Given the description of an element on the screen output the (x, y) to click on. 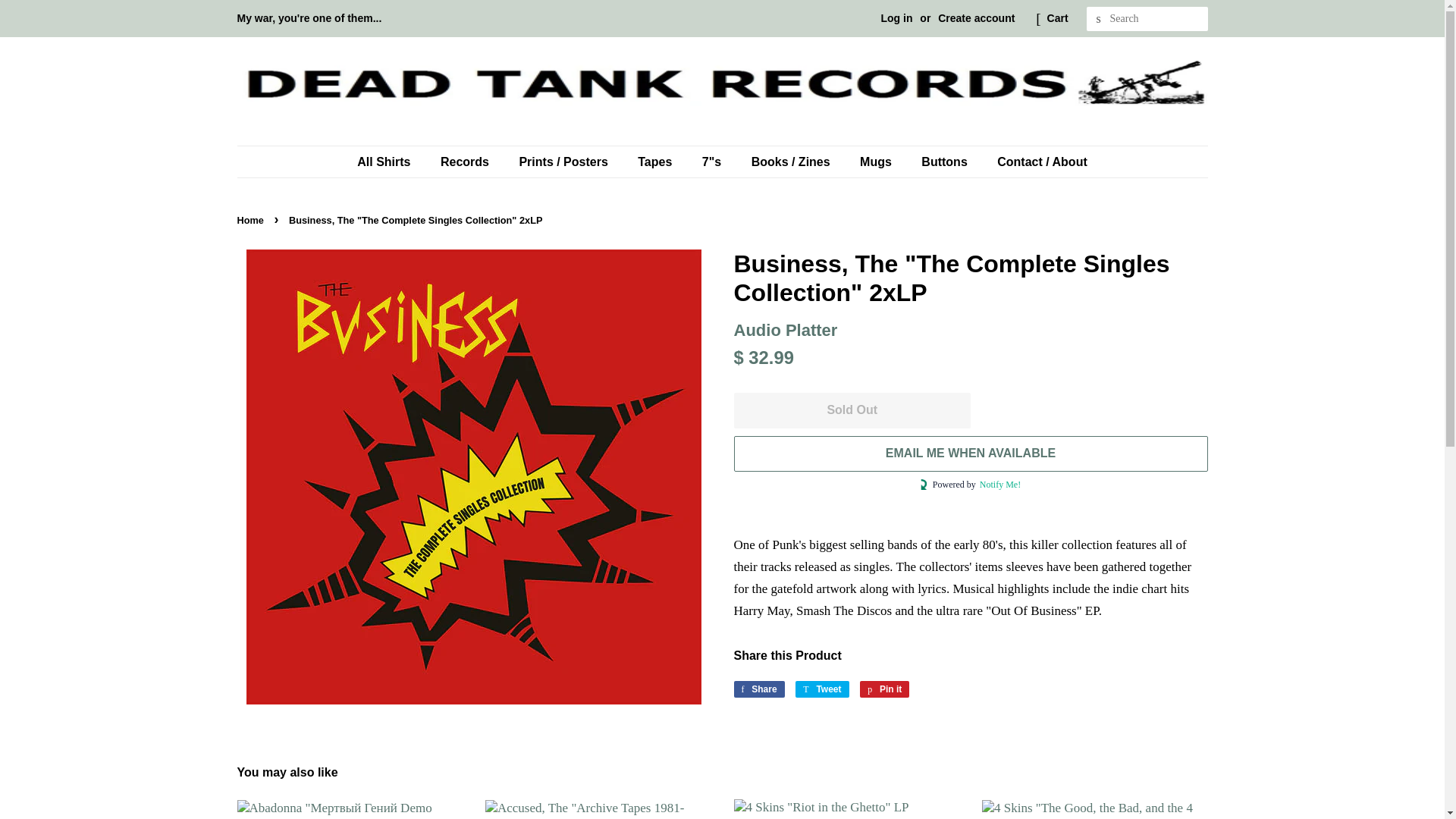
7"s (713, 161)
Sold Out (852, 410)
Tapes (656, 161)
Records (466, 161)
Pin on Pinterest (884, 688)
Back to the frontpage (250, 220)
All Shirts (758, 688)
Create account (390, 161)
Home (975, 18)
Search (821, 688)
Notify Me! (250, 220)
Buttons (884, 688)
